Given the description of an element on the screen output the (x, y) to click on. 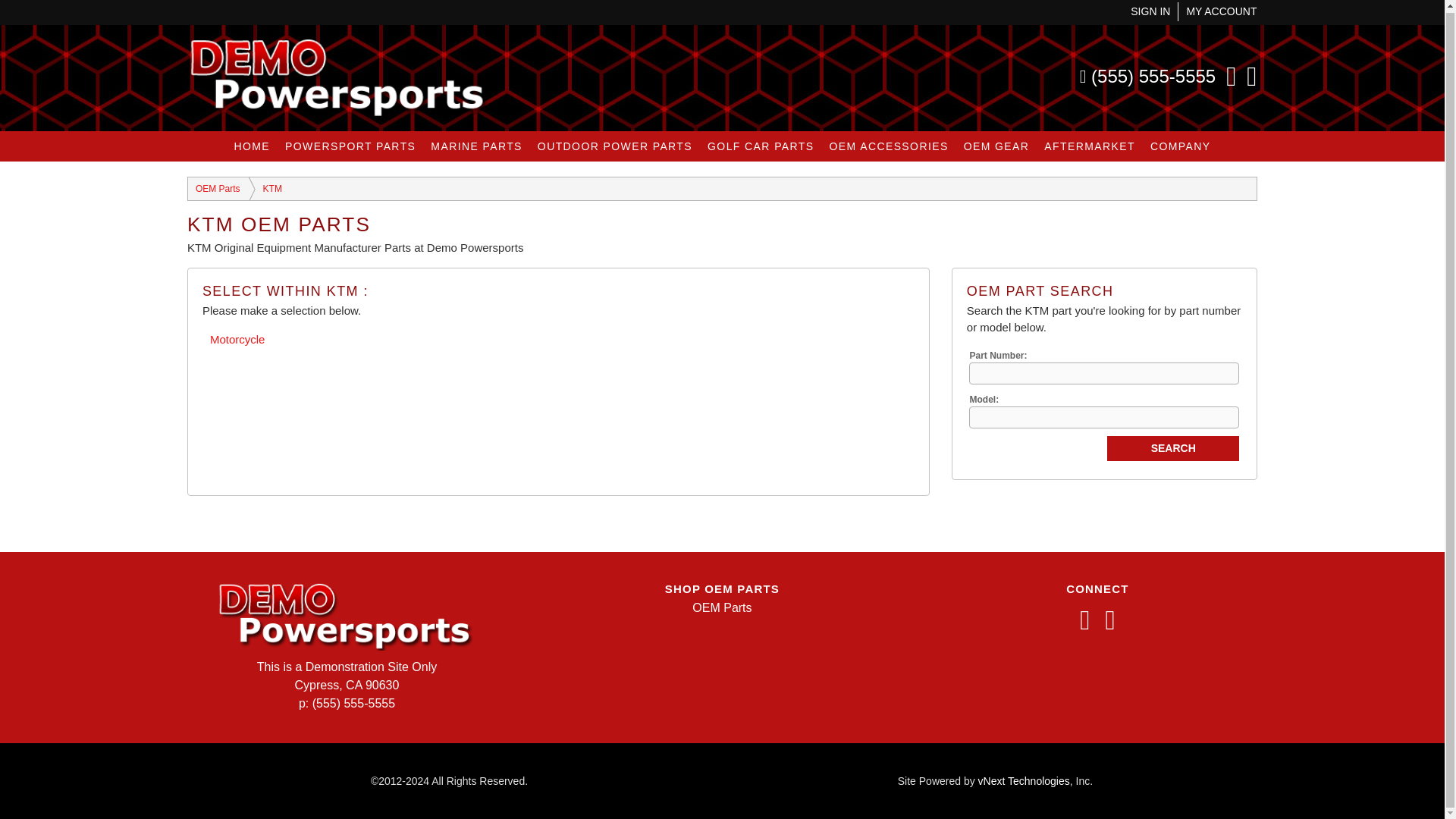
Sign In (1150, 10)
search (1172, 448)
SIGN IN (1150, 10)
MY ACCOUNT (1221, 10)
